Given the description of an element on the screen output the (x, y) to click on. 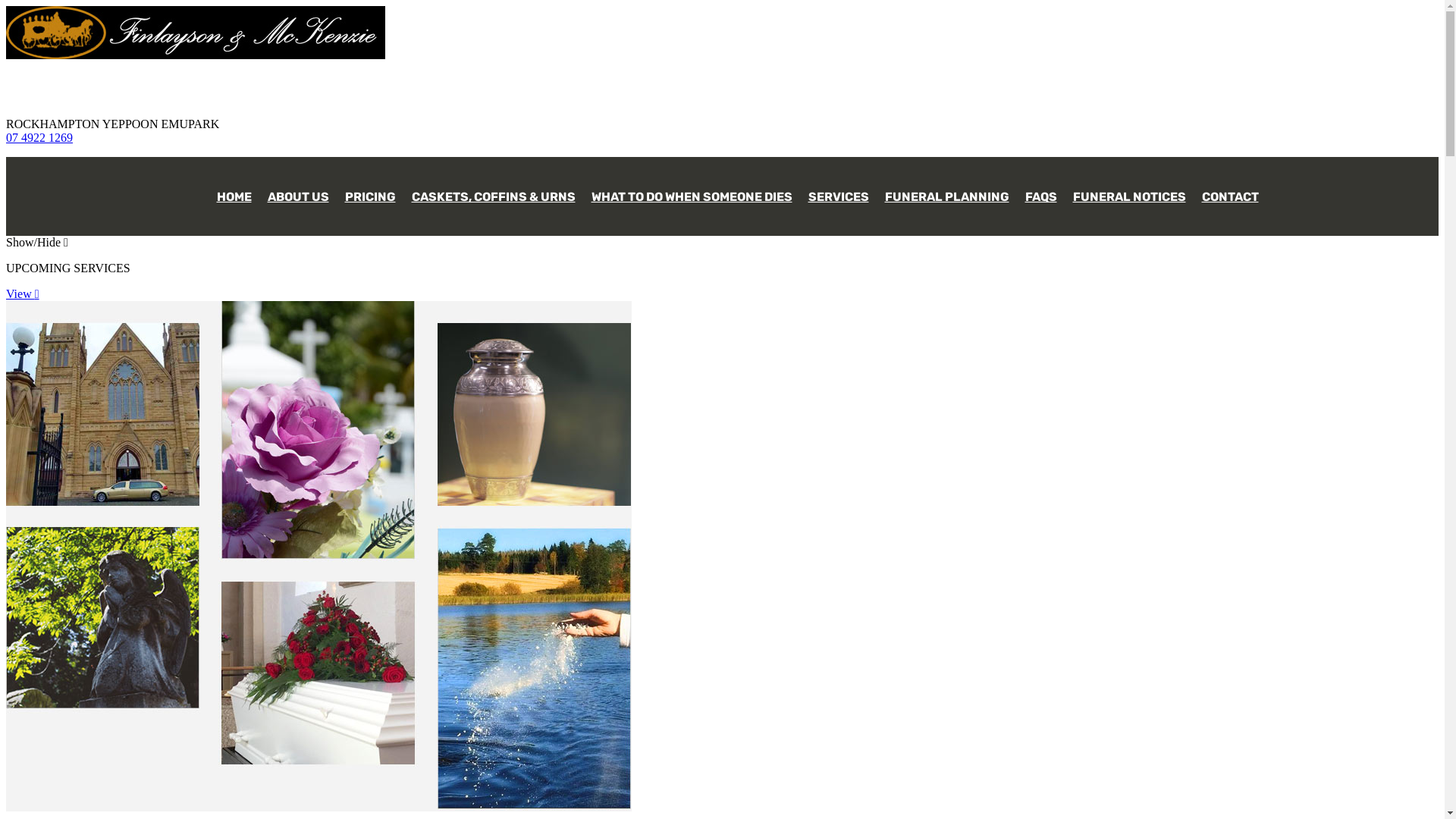
SERVICES Element type: text (837, 189)
FUNERAL PLANNING Element type: text (947, 189)
PRICING Element type: text (370, 189)
CONTACT Element type: text (1230, 189)
ROCKHAMPTON FUNERAL NOTICES Element type: text (737, 268)
CASKETS, COFFINS & URNS Element type: text (493, 189)
ABOUT US Element type: text (297, 189)
07 4922 1269 Element type: text (39, 137)
WHAT TO DO WHEN SOMEONE DIES Element type: text (690, 189)
FAQS Element type: text (1040, 189)
View Element type: text (22, 293)
FUNERAL NOTICES Element type: text (1129, 189)
HOME Element type: text (233, 189)
